Given the description of an element on the screen output the (x, y) to click on. 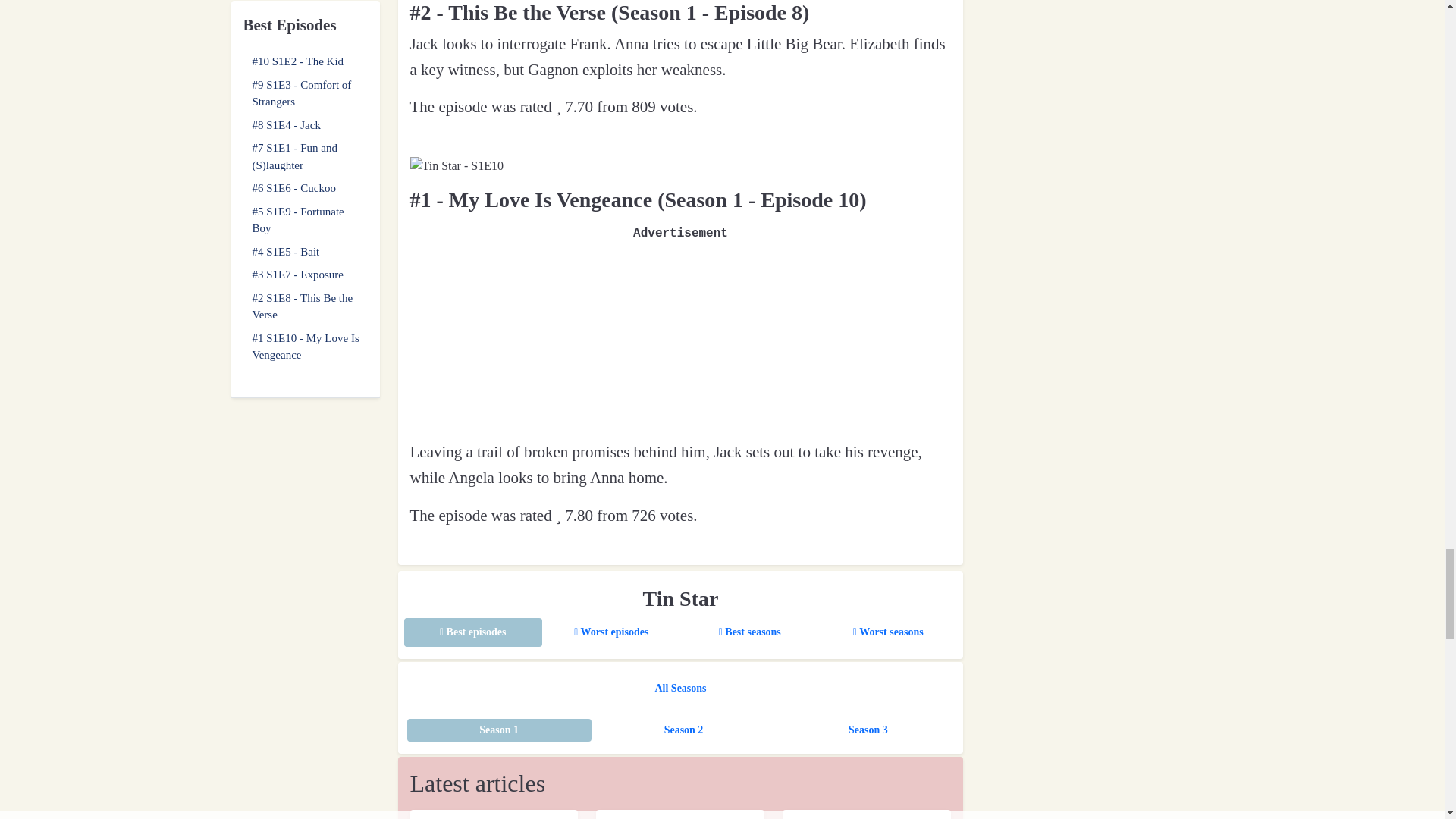
Season 2 (683, 730)
Season 1 (498, 730)
All Seasons (679, 688)
Season 3 (867, 730)
